Given the description of an element on the screen output the (x, y) to click on. 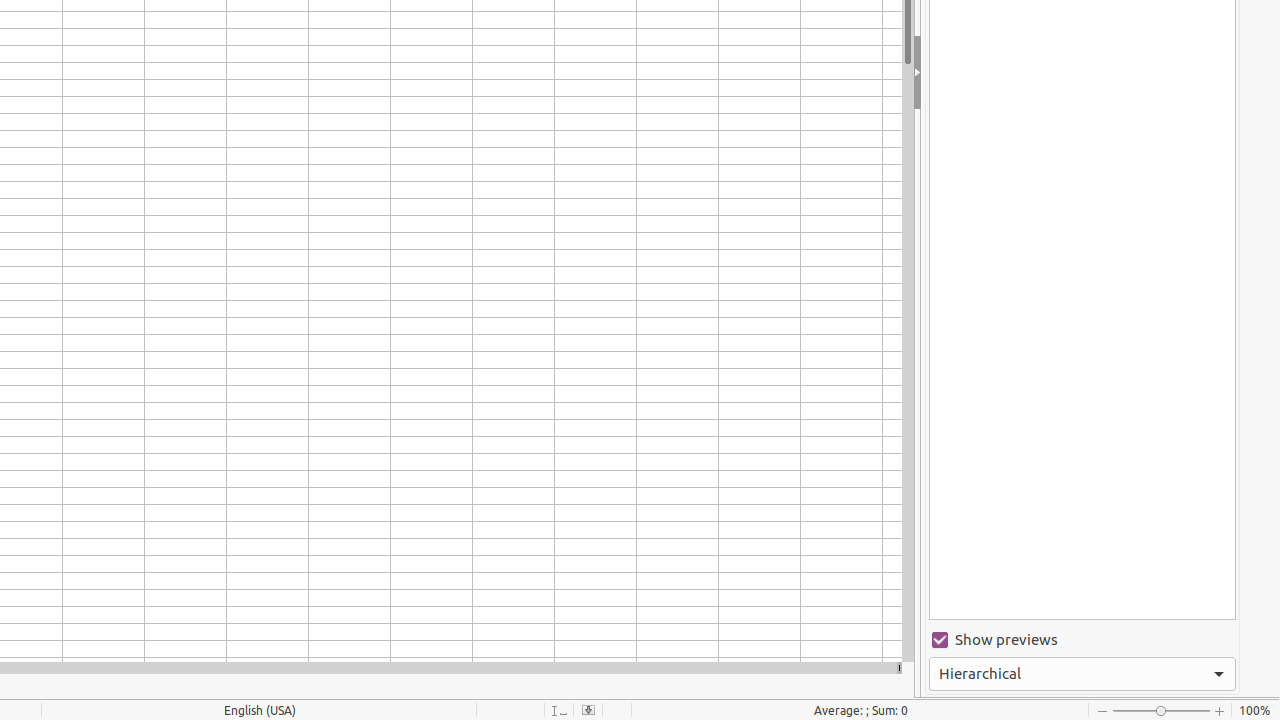
Show previews Element type: check-box (1082, 640)
